Given the description of an element on the screen output the (x, y) to click on. 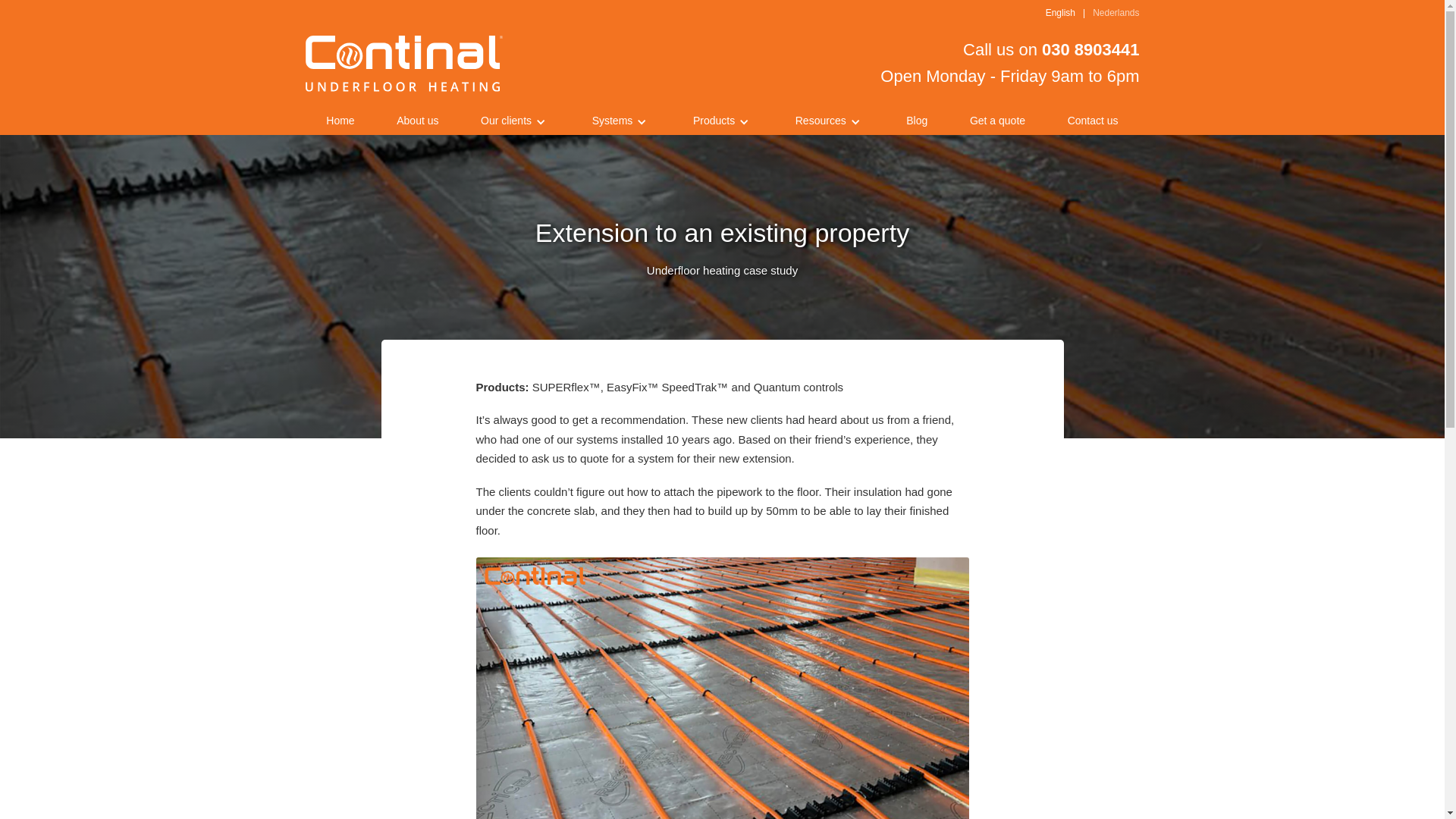
Nederlands (986, 62)
Contact us (1115, 13)
About us (1093, 121)
Continal (417, 121)
Get a quote (403, 63)
Blog (997, 121)
English (917, 121)
Home (1060, 13)
